Given the description of an element on the screen output the (x, y) to click on. 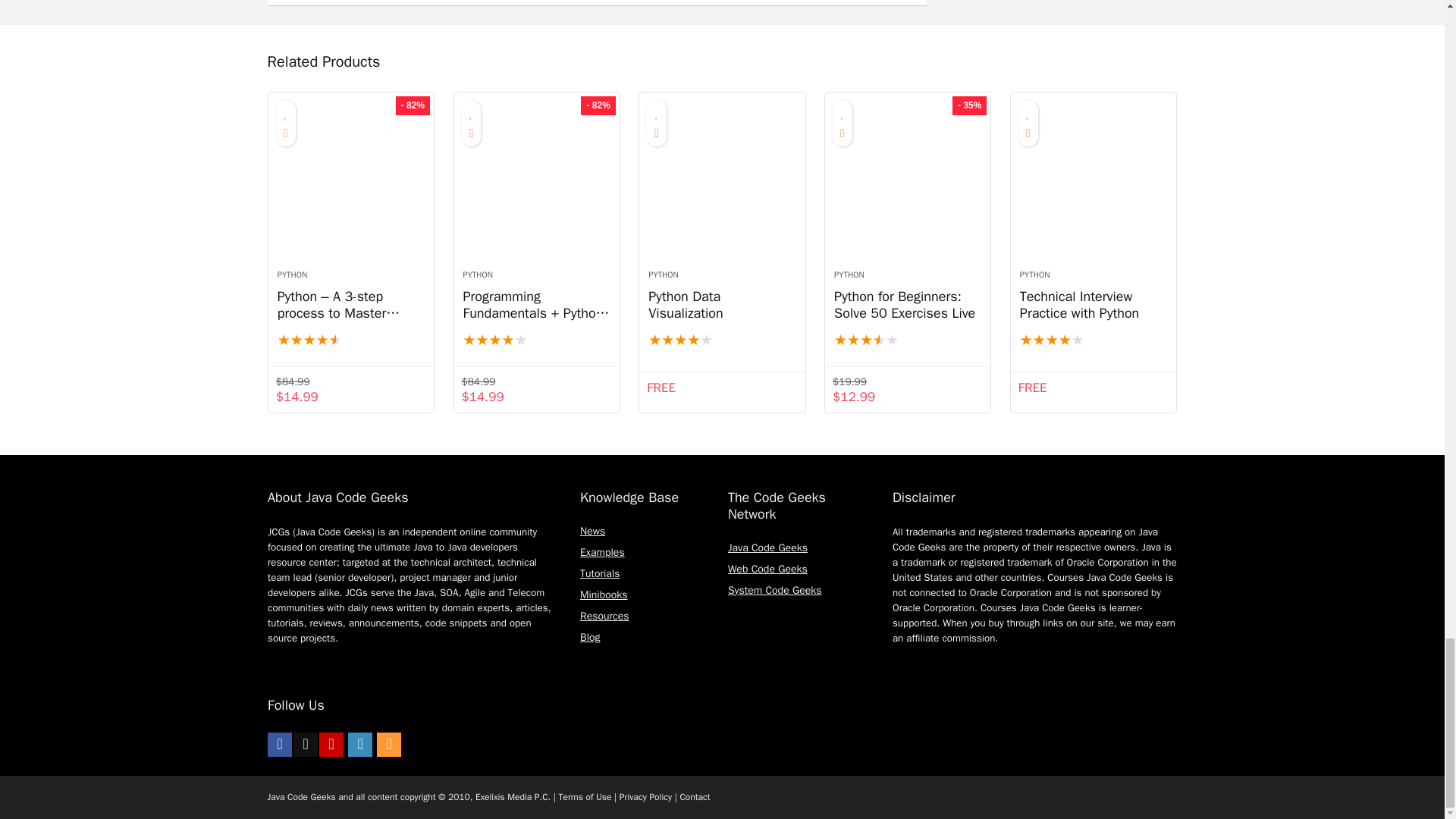
Rated 4.69 out of 5 (351, 340)
